Given the description of an element on the screen output the (x, y) to click on. 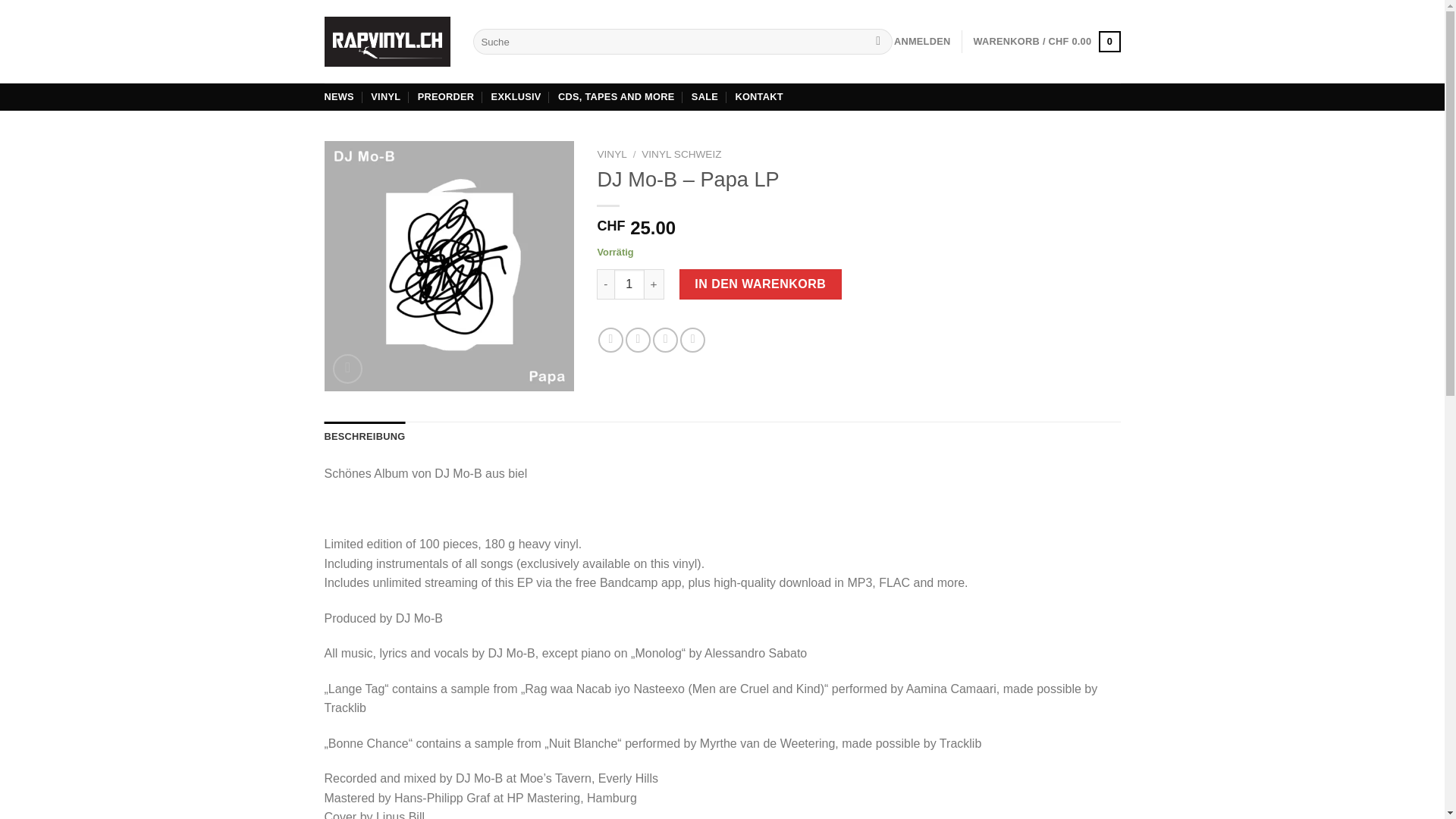
VINYL (611, 153)
IN DEN WARENKORB (760, 284)
E-mail an einen Freund senden (665, 339)
SALE (704, 96)
PREORDER (445, 96)
CDS, TAPES AND MORE (615, 96)
VINYL (385, 96)
NEWS (338, 96)
KONTAKT (759, 96)
ANMELDEN (921, 41)
Pinterest Pin erstellen (691, 339)
Auf Facebook teilen (610, 339)
VINYL SCHWEIZ (681, 153)
EXKLUSIV (516, 96)
Auf Twitter teilen (638, 339)
